Given the description of an element on the screen output the (x, y) to click on. 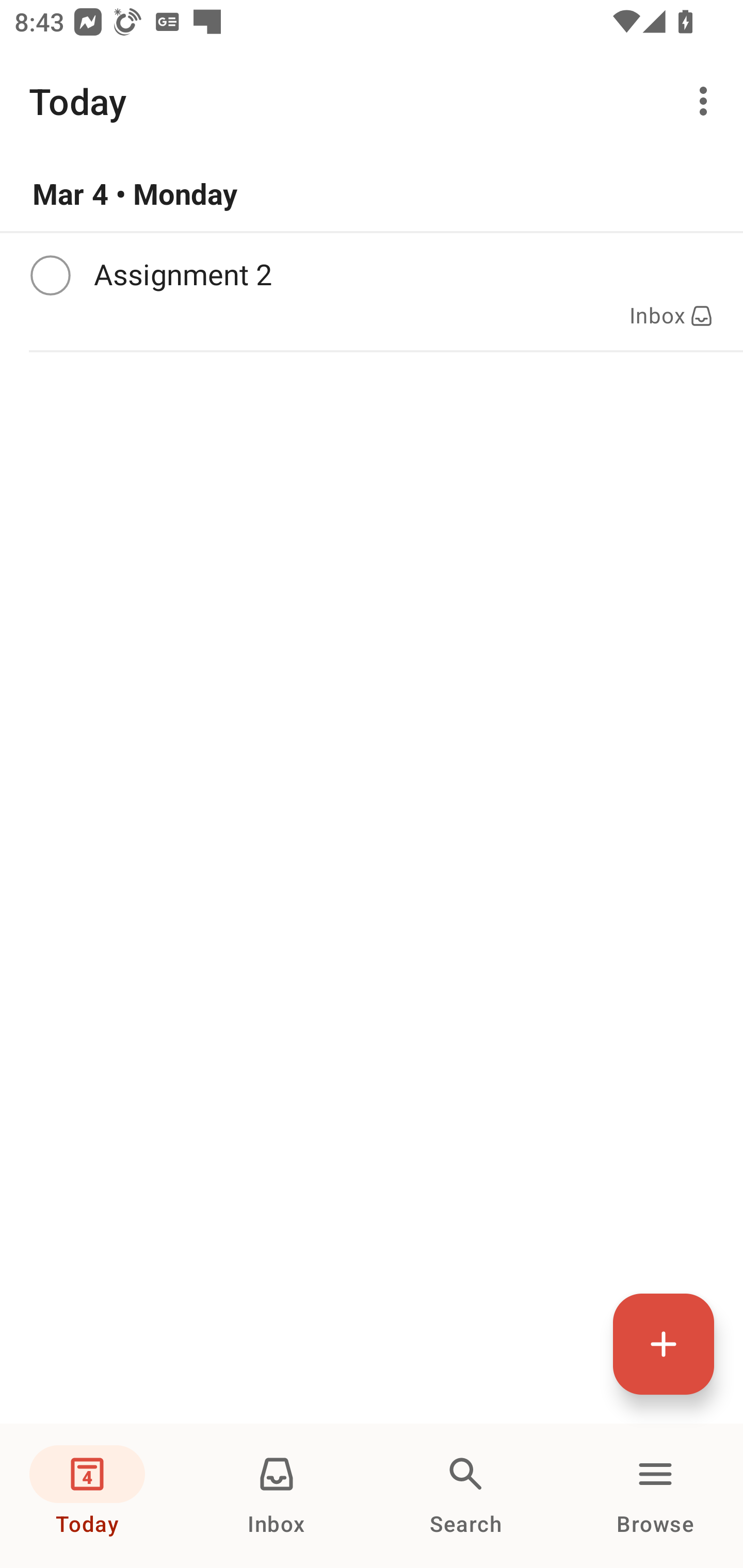
Today More options (371, 100)
More options (706, 101)
Mar 4 • Monday (371, 194)
Complete Assignment 2 Inbox (371, 291)
Complete (50, 275)
Quick add (663, 1343)
Inbox (276, 1495)
Search (465, 1495)
Browse (655, 1495)
